Given the description of an element on the screen output the (x, y) to click on. 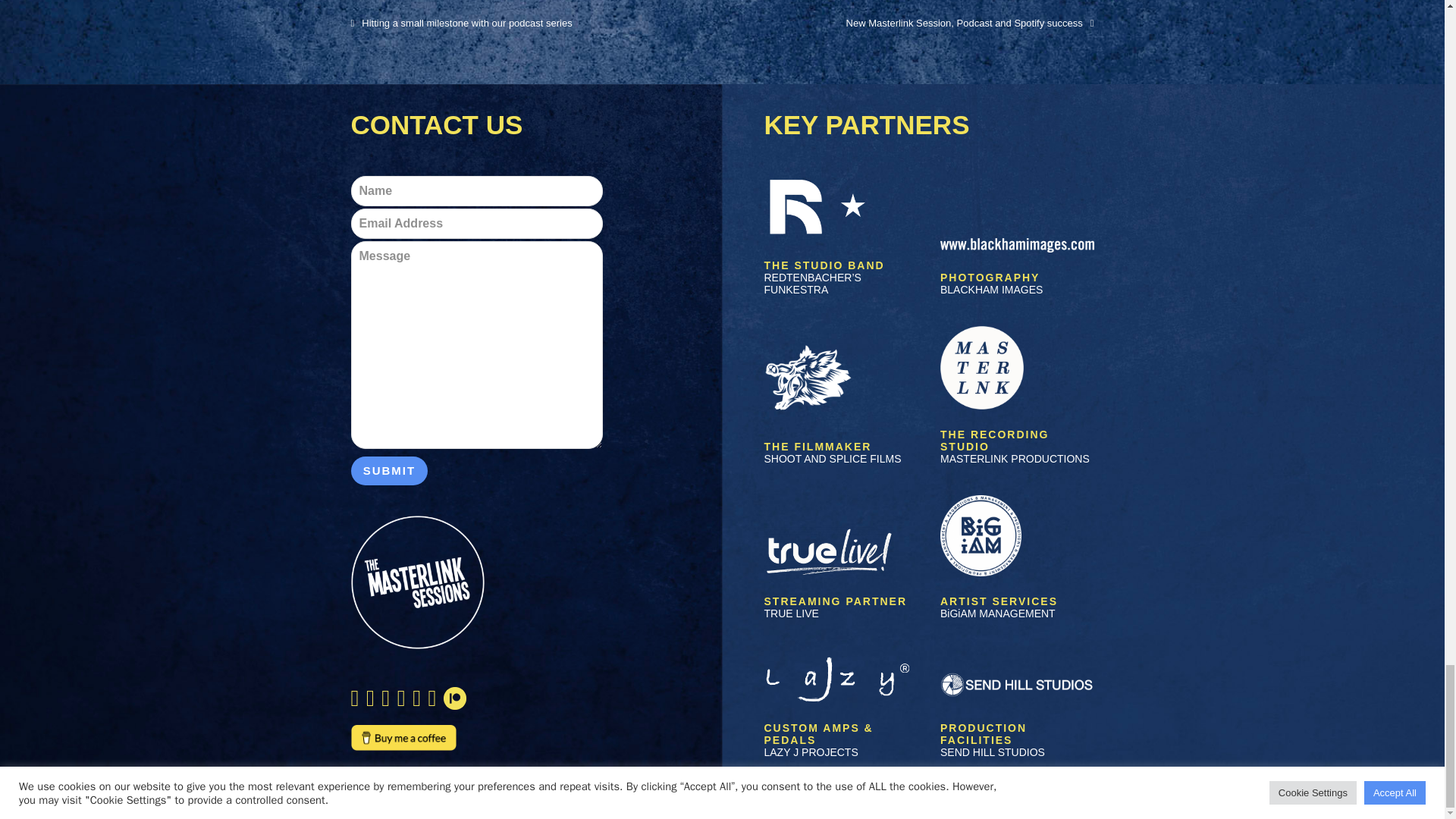
Submit (389, 470)
Privacy Policy (390, 775)
Submit (389, 470)
